Given the description of an element on the screen output the (x, y) to click on. 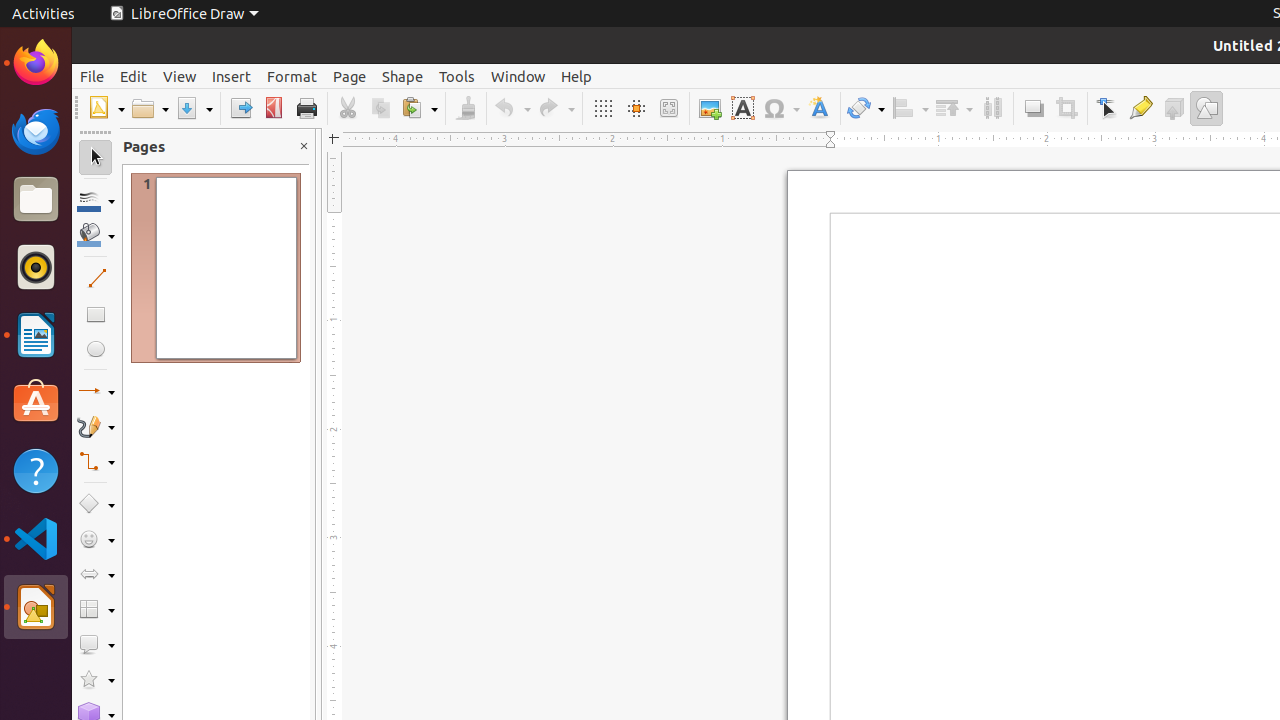
Rectangle Element type: push-button (95, 313)
Rhythmbox Element type: push-button (36, 267)
Print Element type: push-button (306, 108)
Symbol Element type: push-button (781, 108)
New Element type: push-button (106, 108)
